Given the description of an element on the screen output the (x, y) to click on. 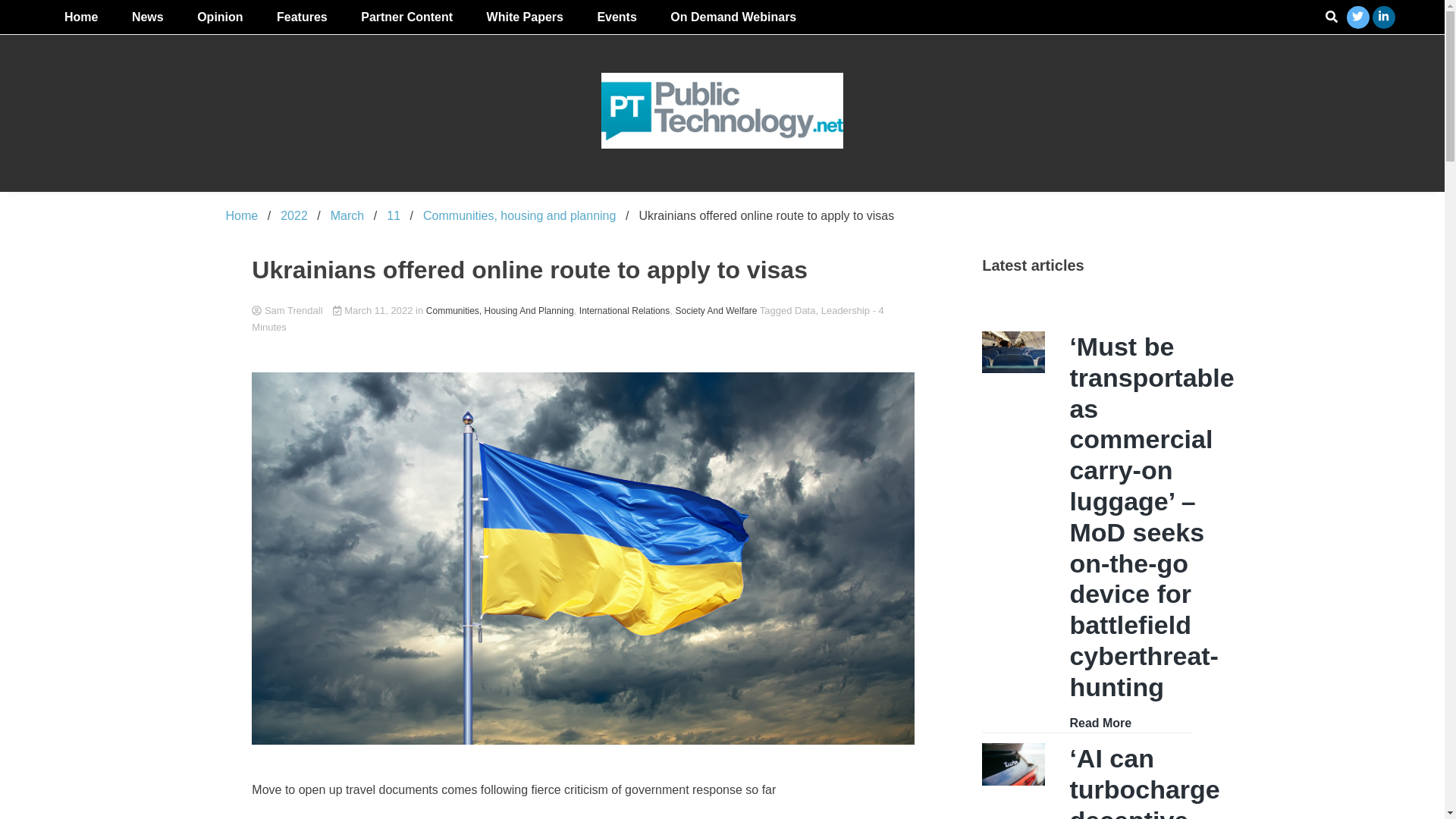
Society And Welfare (716, 310)
Data (804, 310)
On Demand Webinars (732, 17)
Partner Content (406, 17)
Estimated Reading Time of Article (567, 318)
2022 (294, 215)
Events (615, 17)
11 (393, 215)
Communities, Housing And Planning (499, 310)
International Relations (624, 310)
Communities, housing and planning (519, 215)
Leadership (845, 310)
Sam Trendall (582, 310)
White Papers (524, 17)
Home (242, 215)
